Given the description of an element on the screen output the (x, y) to click on. 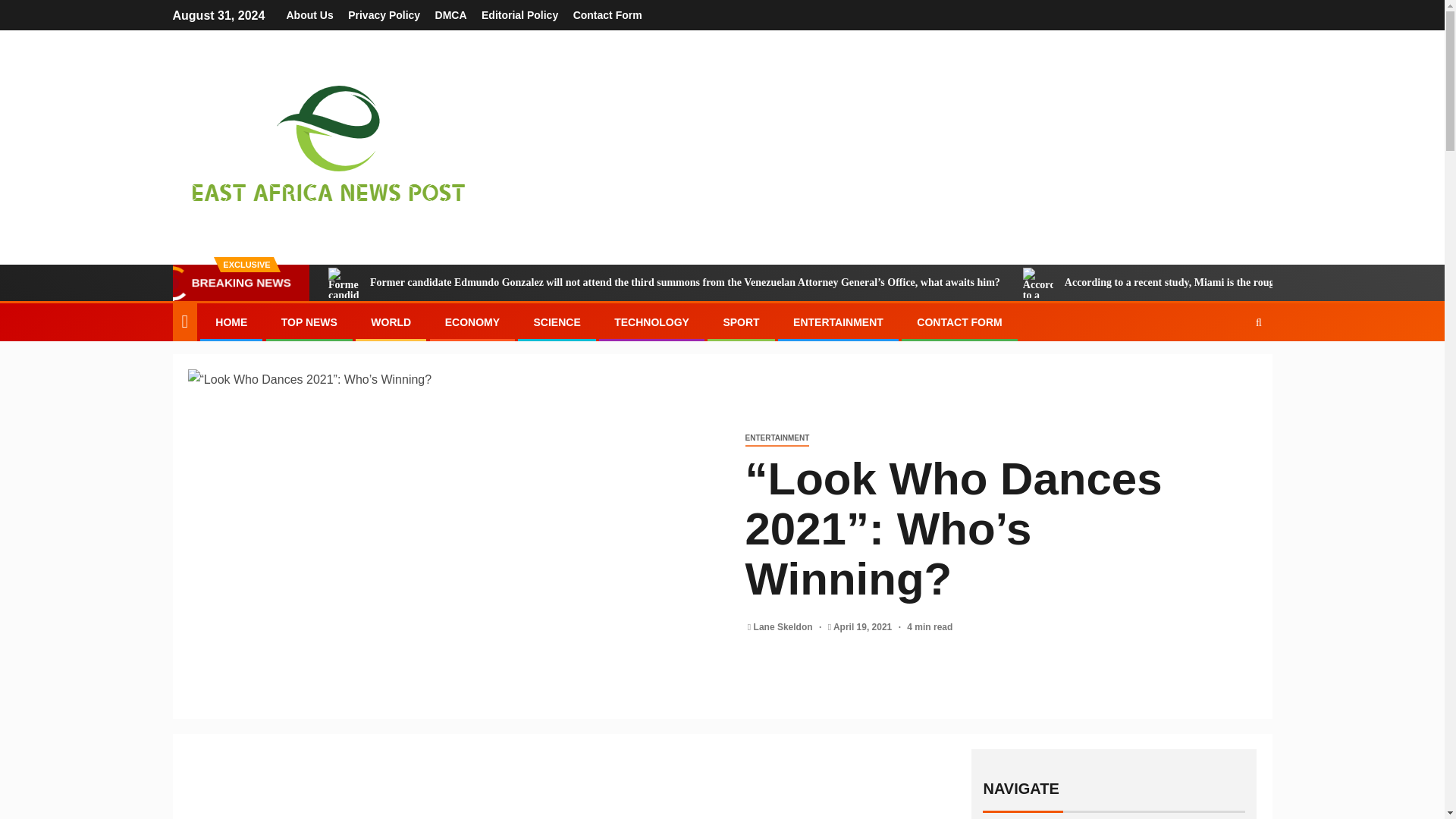
HOME (231, 322)
SCIENCE (555, 322)
Contact Form (607, 15)
Lane Skeldon (784, 626)
SPORT (740, 322)
ECONOMY (472, 322)
Privacy Policy (383, 15)
DMCA (451, 15)
Search (1229, 368)
TECHNOLOGY (651, 322)
